Given the description of an element on the screen output the (x, y) to click on. 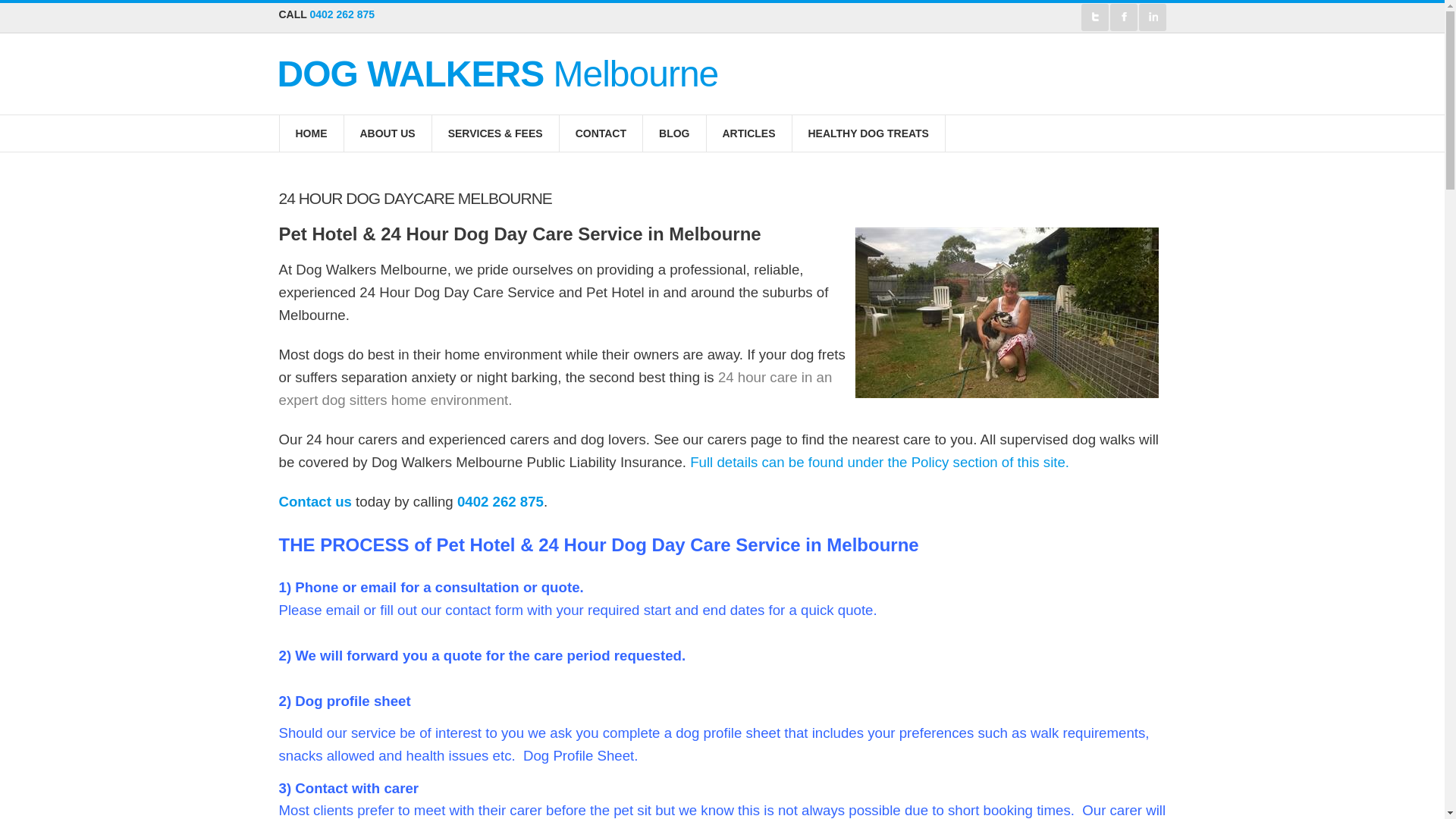
Facebook Element type: text (1123, 17)
0402 262 875 Element type: text (341, 14)
ARTICLES Element type: text (749, 133)
0402 262 875 Element type: text (500, 501)
DOG WALKERS Melbourne Element type: text (497, 73)
ABOUT US Element type: text (388, 133)
CONTACT Element type: text (601, 133)
Linkedin Element type: text (1152, 17)
Follow Us Element type: text (1094, 17)
Contact us Element type: text (315, 501)
HOME Element type: text (311, 133)
BLOG Element type: text (674, 133)
SERVICES & FEES Element type: text (495, 133)
HEALTHY DOG TREATS Element type: text (867, 133)
